Given the description of an element on the screen output the (x, y) to click on. 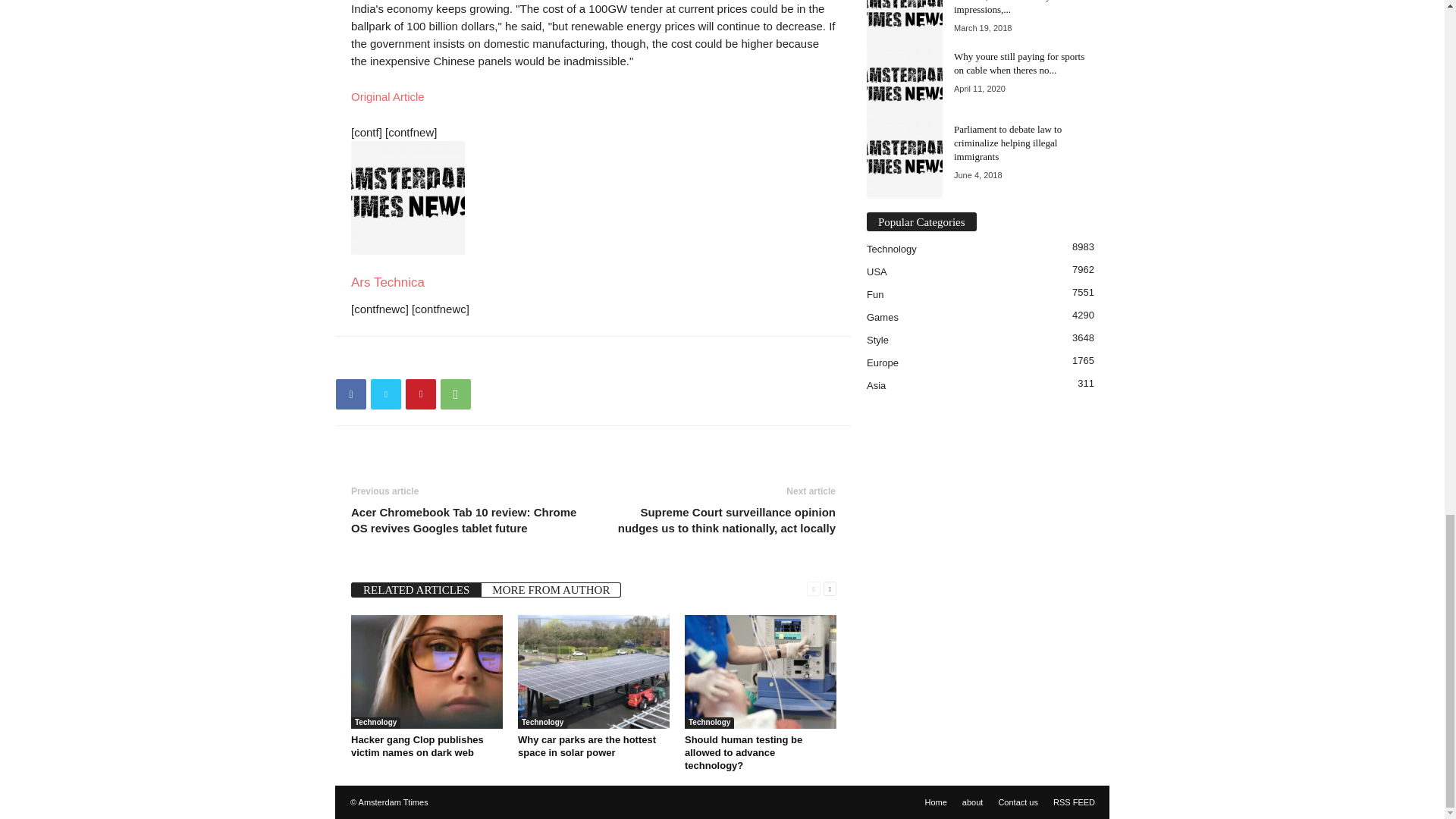
Facebook (351, 393)
Hacker gang Clop publishes victim names on dark web (426, 671)
WhatsApp (455, 393)
Pinterest (420, 393)
Twitter (386, 393)
